Given the description of an element on the screen output the (x, y) to click on. 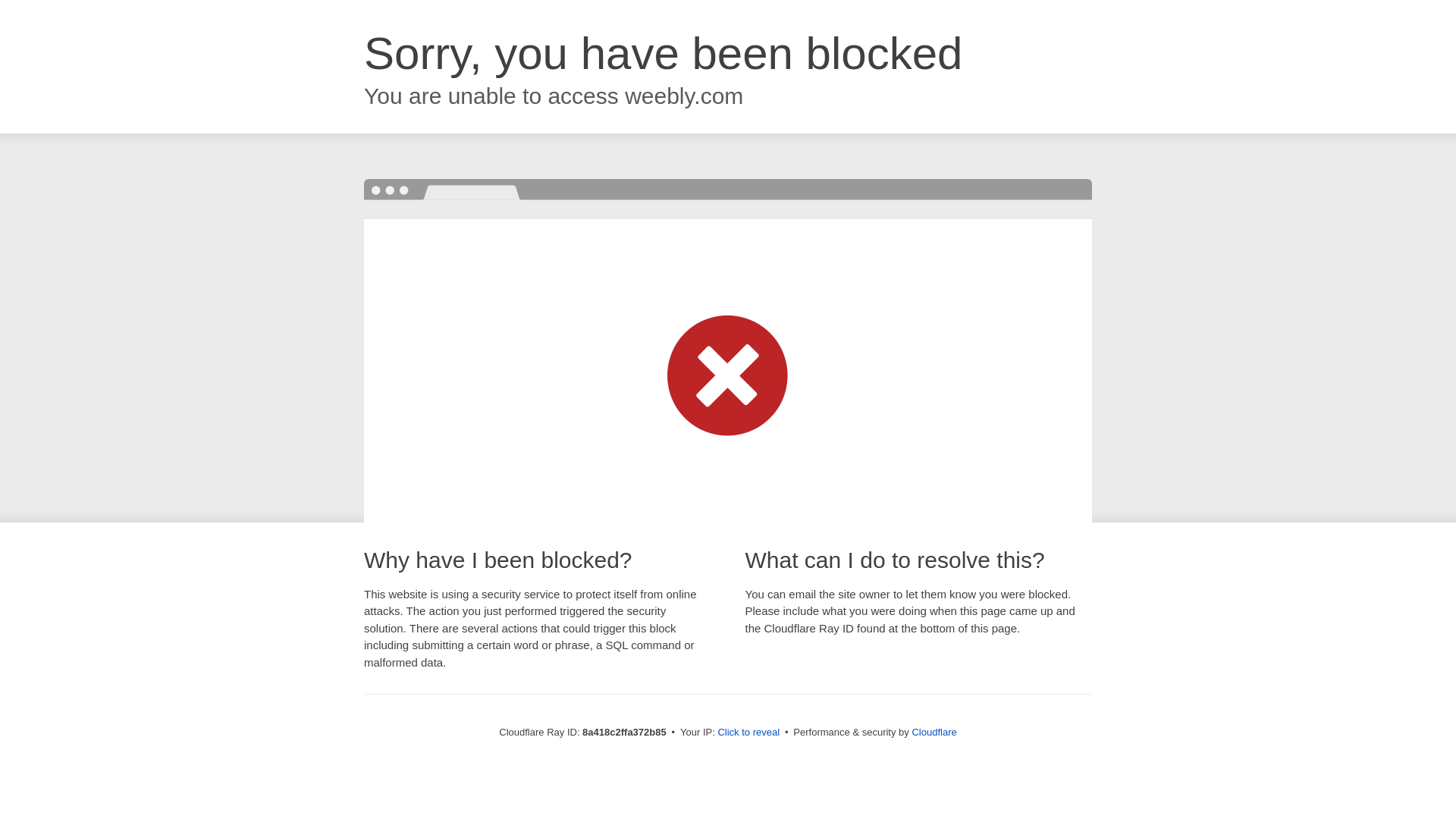
Click to reveal (747, 732)
Cloudflare (933, 731)
